Given the description of an element on the screen output the (x, y) to click on. 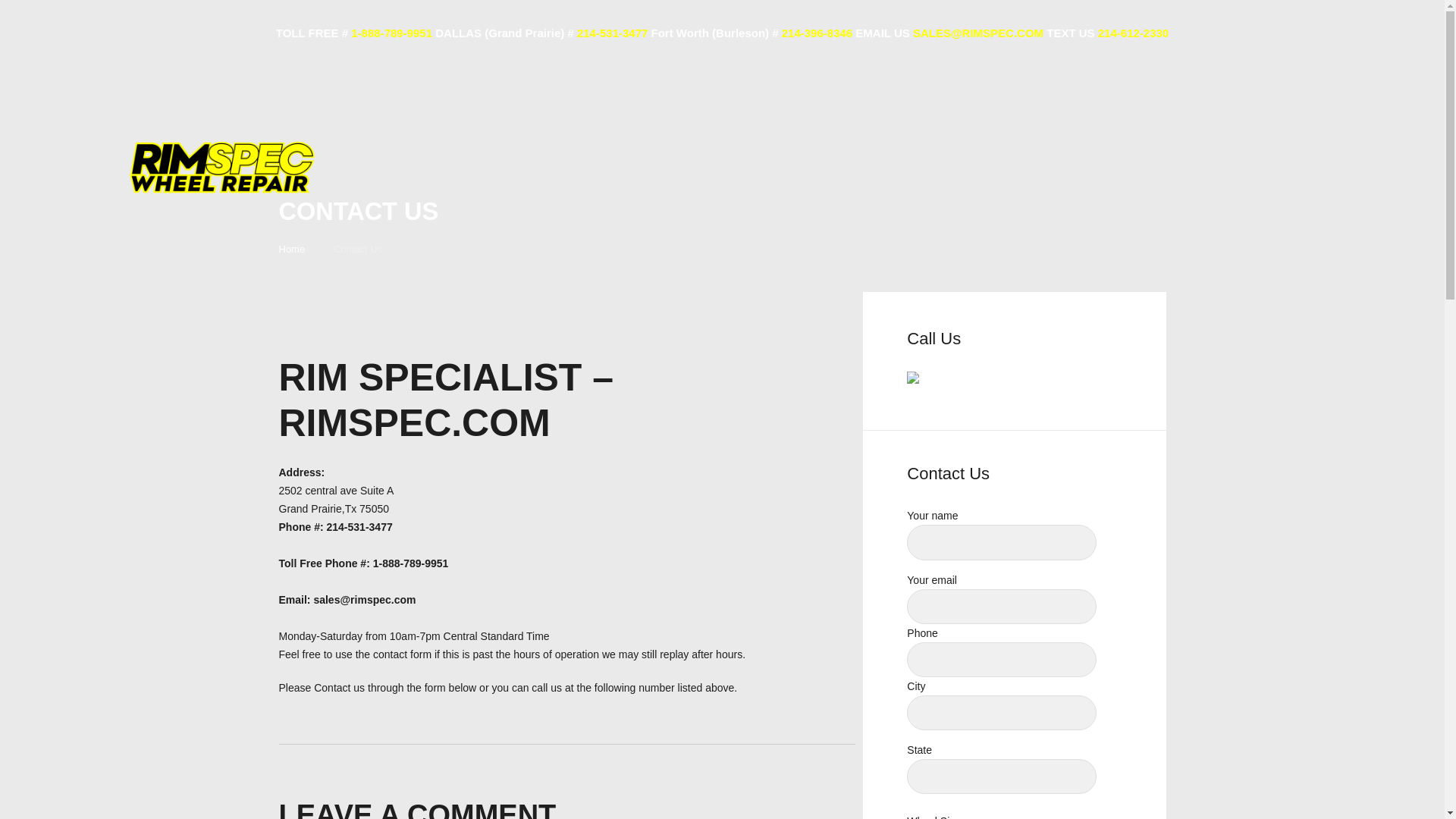
214-531-3477 (611, 32)
214-396-8346 (816, 32)
Home (292, 248)
1-888-789-9951 (391, 32)
214-612-2330 (1133, 32)
